Given the description of an element on the screen output the (x, y) to click on. 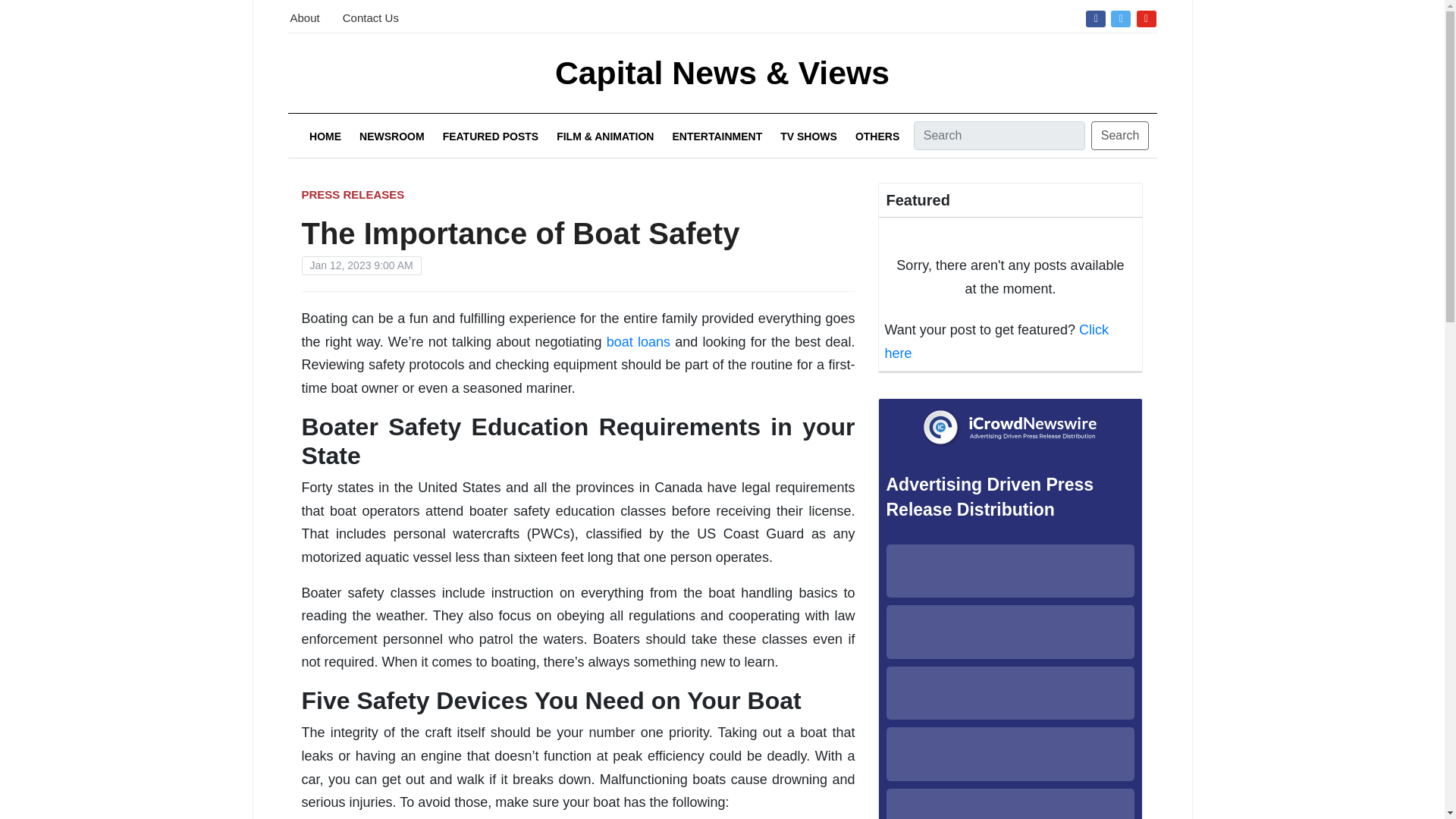
Twitter (1120, 17)
Youtube (1146, 17)
OTHERS (877, 136)
Search (1120, 135)
Facebook (1095, 17)
Contact Us (370, 15)
HOME (324, 136)
NEWSROOM (392, 136)
boat loans (638, 341)
PRESS RELEASES (352, 194)
